Given the description of an element on the screen output the (x, y) to click on. 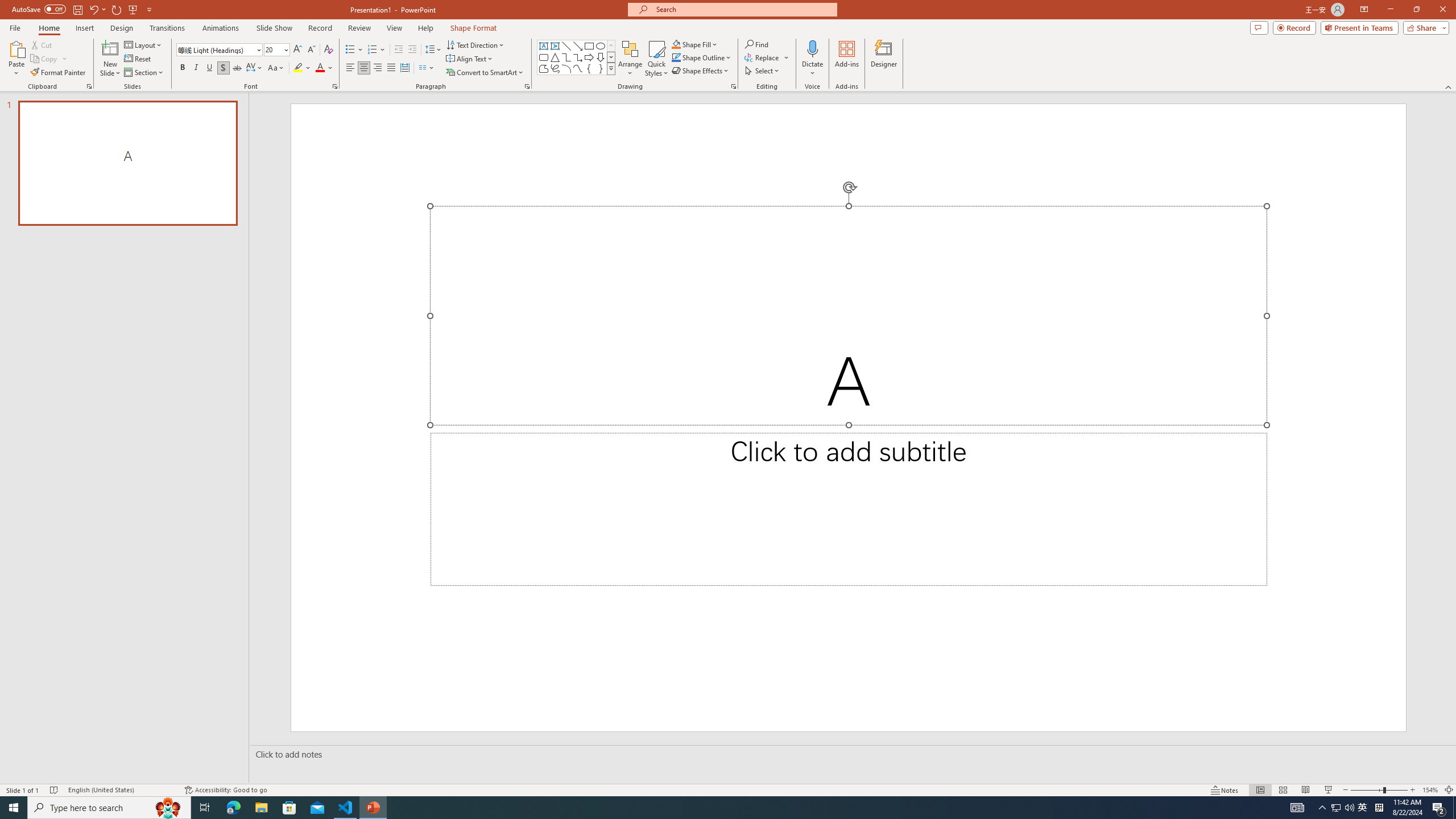
Shape Outline Blue, Accent 1 (675, 56)
